Given the description of an element on the screen output the (x, y) to click on. 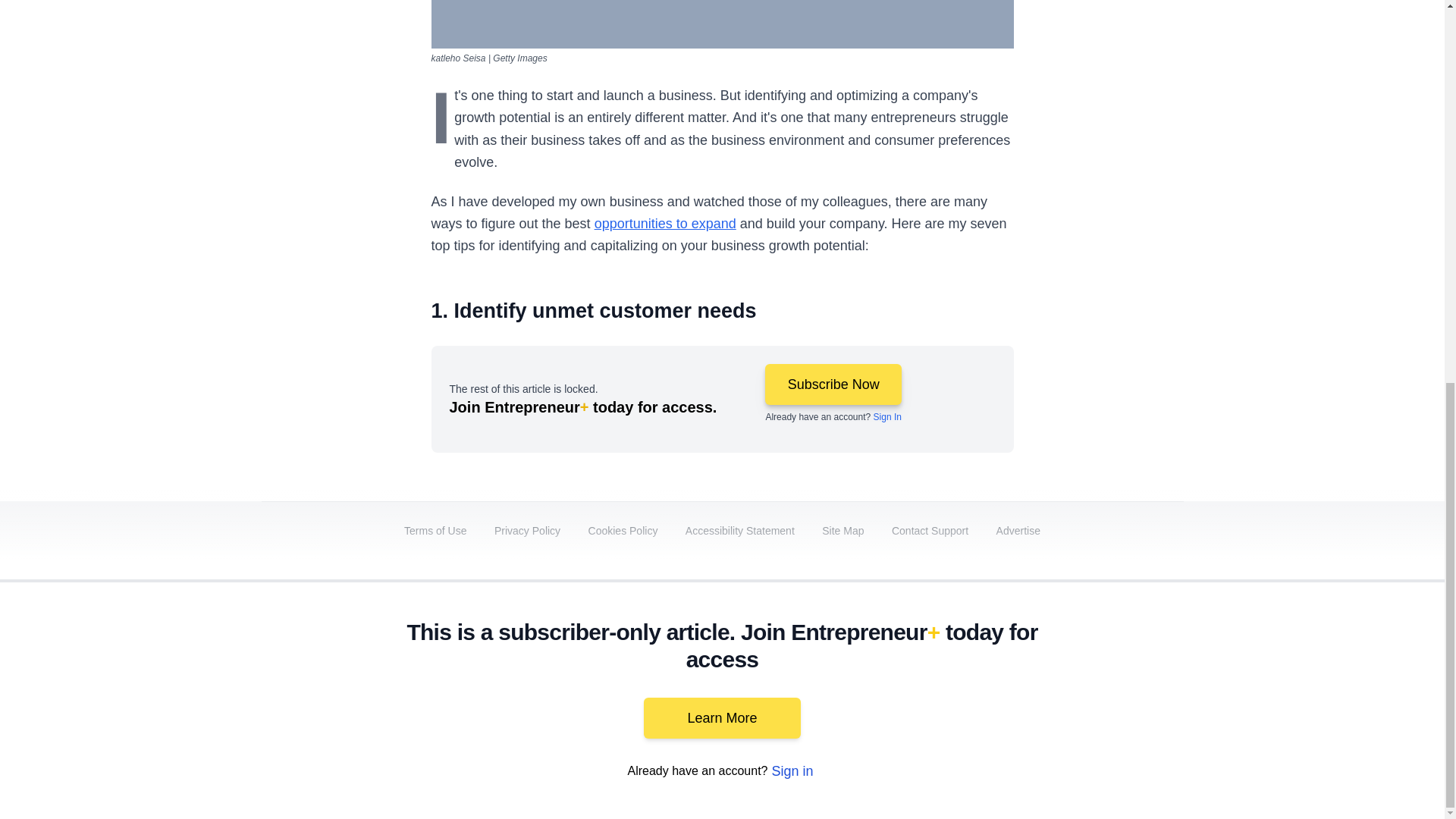
rss (1164, 691)
tiktok (1079, 691)
twitter (909, 691)
linkedin (952, 691)
facebook (866, 691)
youtube (994, 691)
instagram (1037, 691)
snapchat (1121, 691)
